Given the description of an element on the screen output the (x, y) to click on. 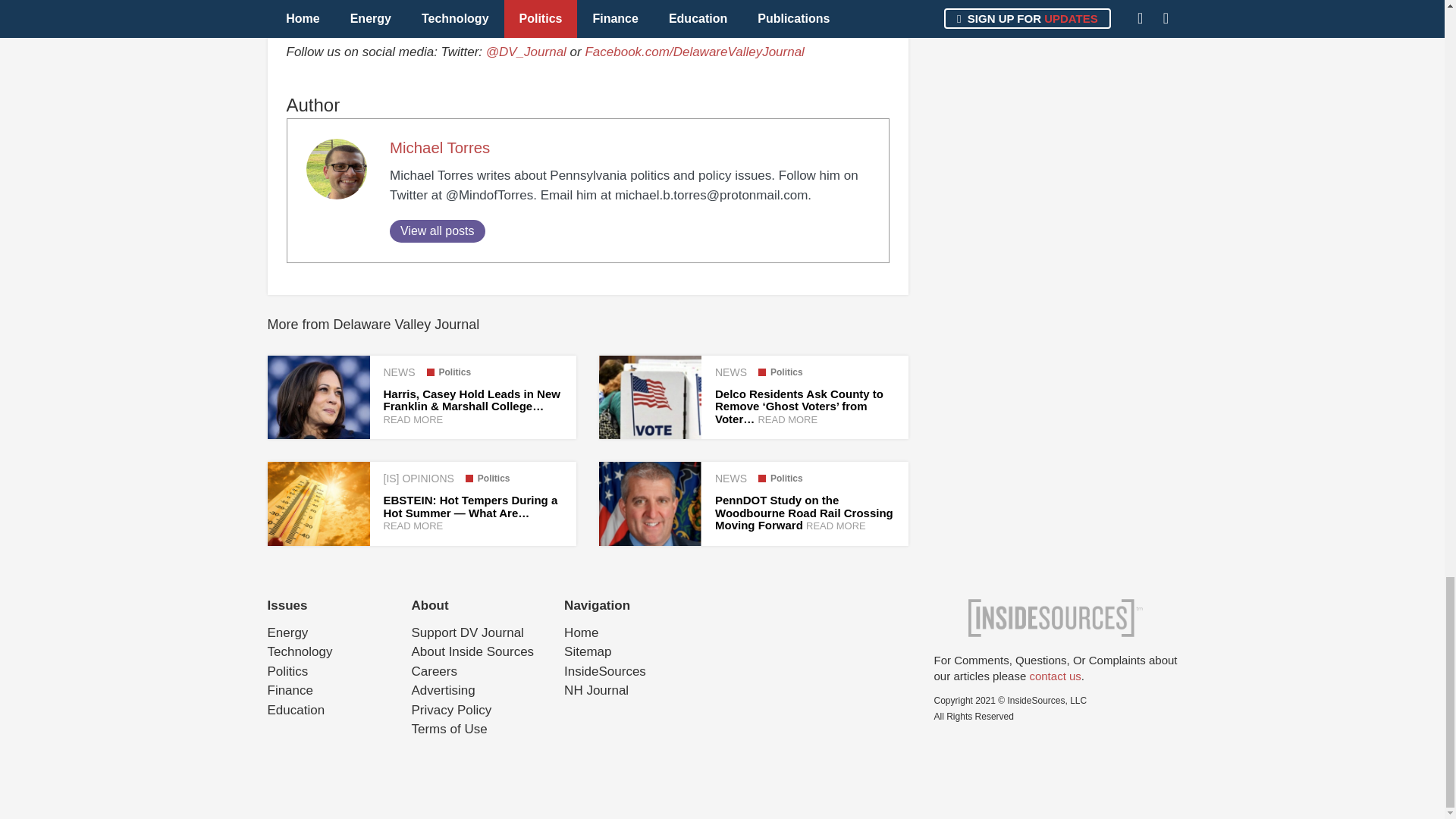
Politics (448, 371)
View all posts in Politics (448, 371)
View all posts in Politics (780, 478)
View all posts in Politics (488, 478)
View all posts (437, 231)
View all posts (437, 231)
Michael Torres (439, 147)
View all posts in Politics (780, 371)
Michael Torres (439, 147)
